Given the description of an element on the screen output the (x, y) to click on. 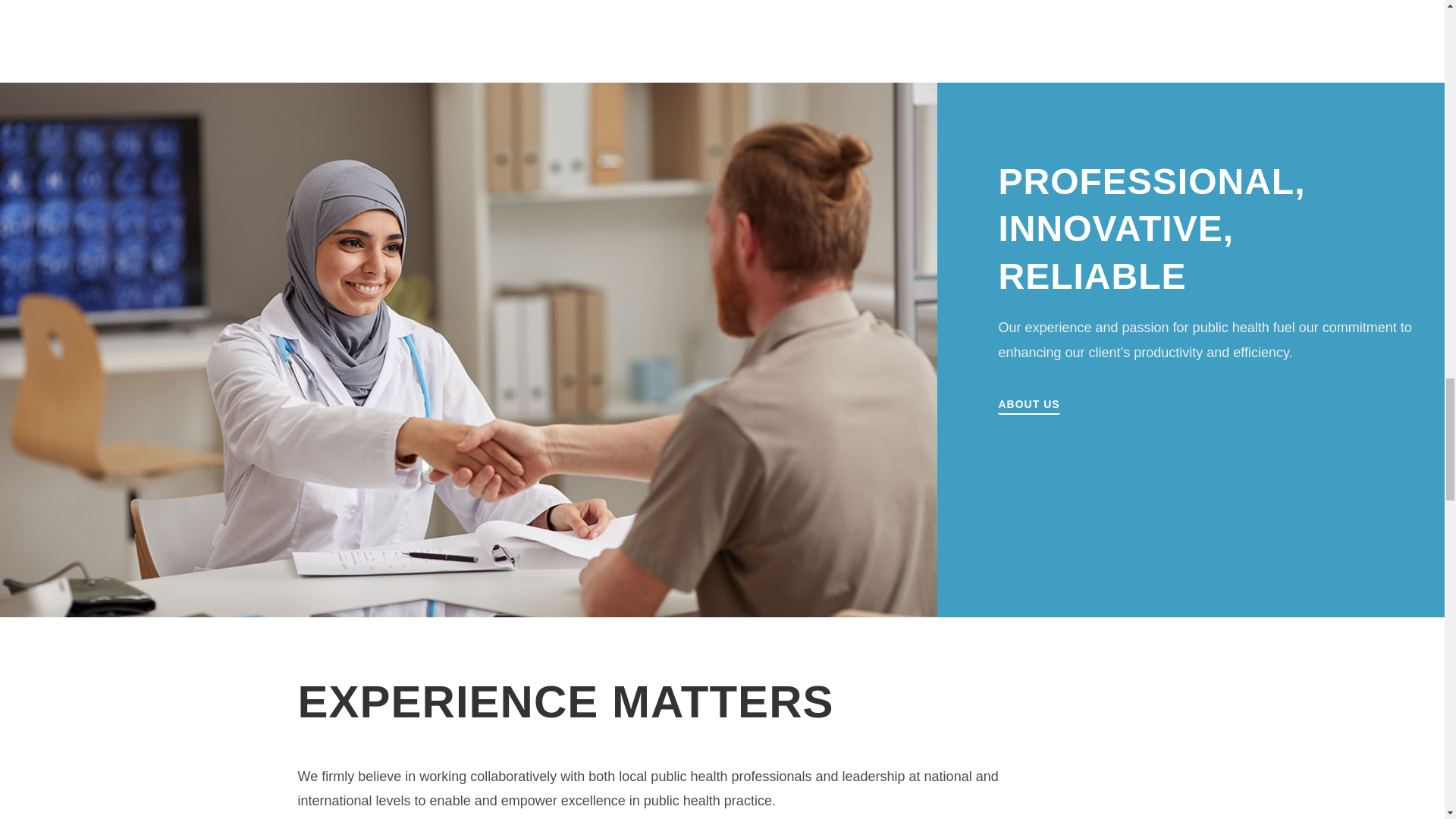
ABOUT US (1028, 406)
